Given the description of an element on the screen output the (x, y) to click on. 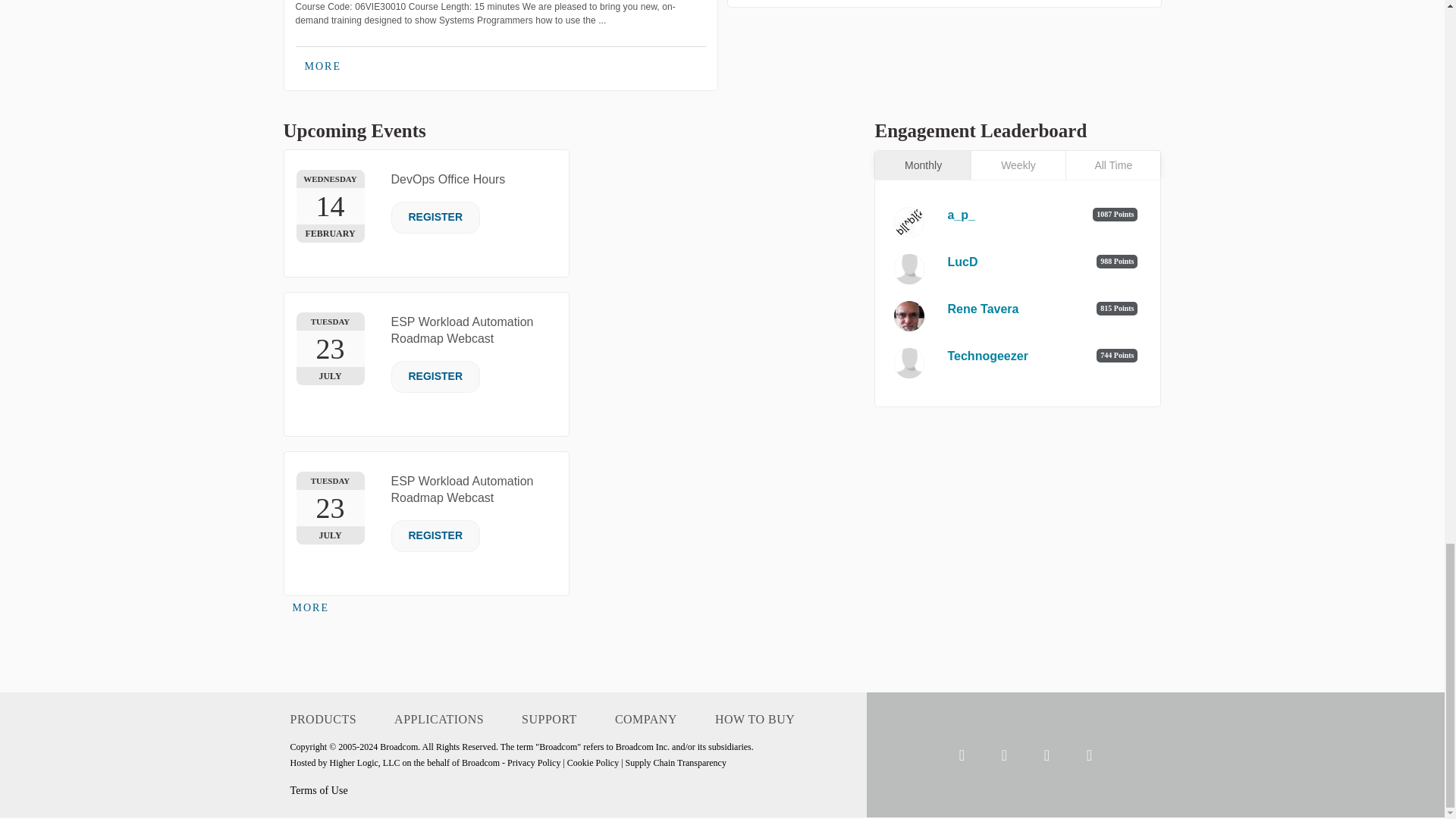
More (310, 607)
ESP Workload Automation Roadmap Webcast (462, 329)
More (322, 66)
ESP Workload Automation Roadmap Webcast (462, 489)
DevOps Office  Hours (448, 178)
